Given the description of an element on the screen output the (x, y) to click on. 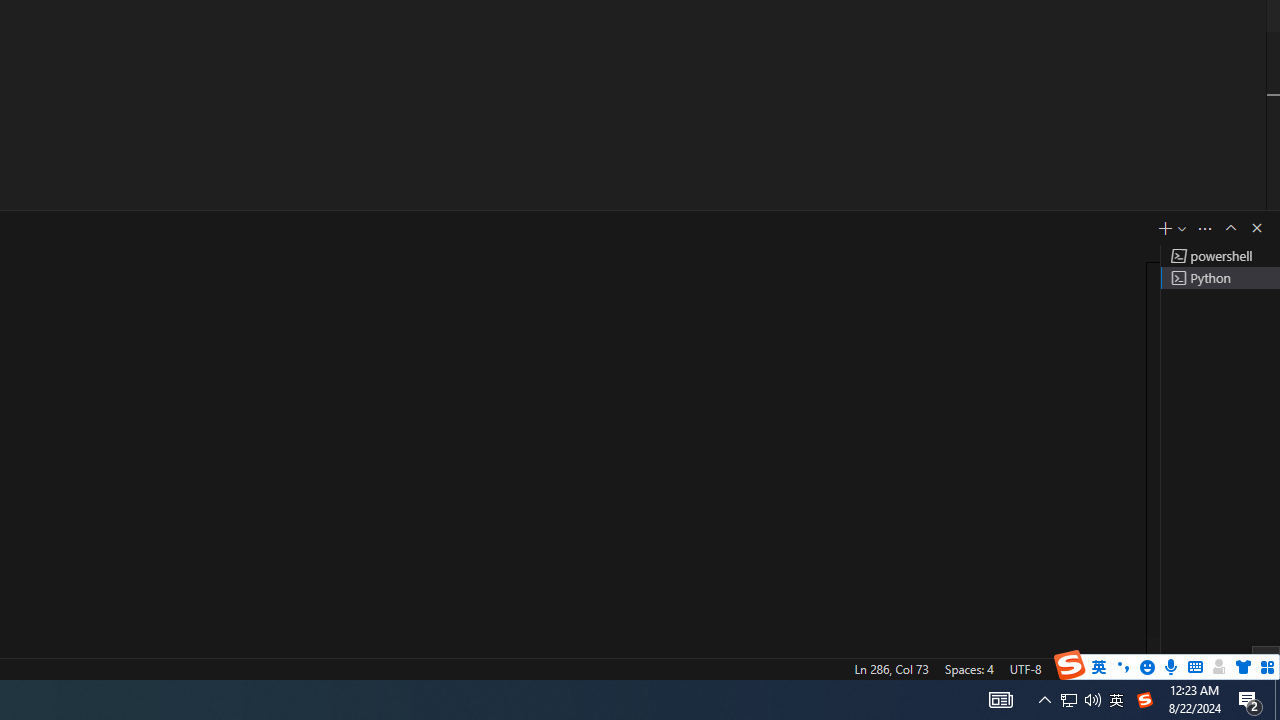
Views and More Actions... (1205, 227)
Maximize Panel Size (1230, 227)
Python (1135, 668)
Ln 286, Col 73 (891, 668)
Terminal 1 powershell (1220, 255)
Terminal 5 Python (1220, 277)
Spaces: 4 (968, 668)
Hide Panel (1256, 227)
Notifications (1257, 668)
CRLF (1070, 668)
Launch Profile... (1181, 227)
